Given the description of an element on the screen output the (x, y) to click on. 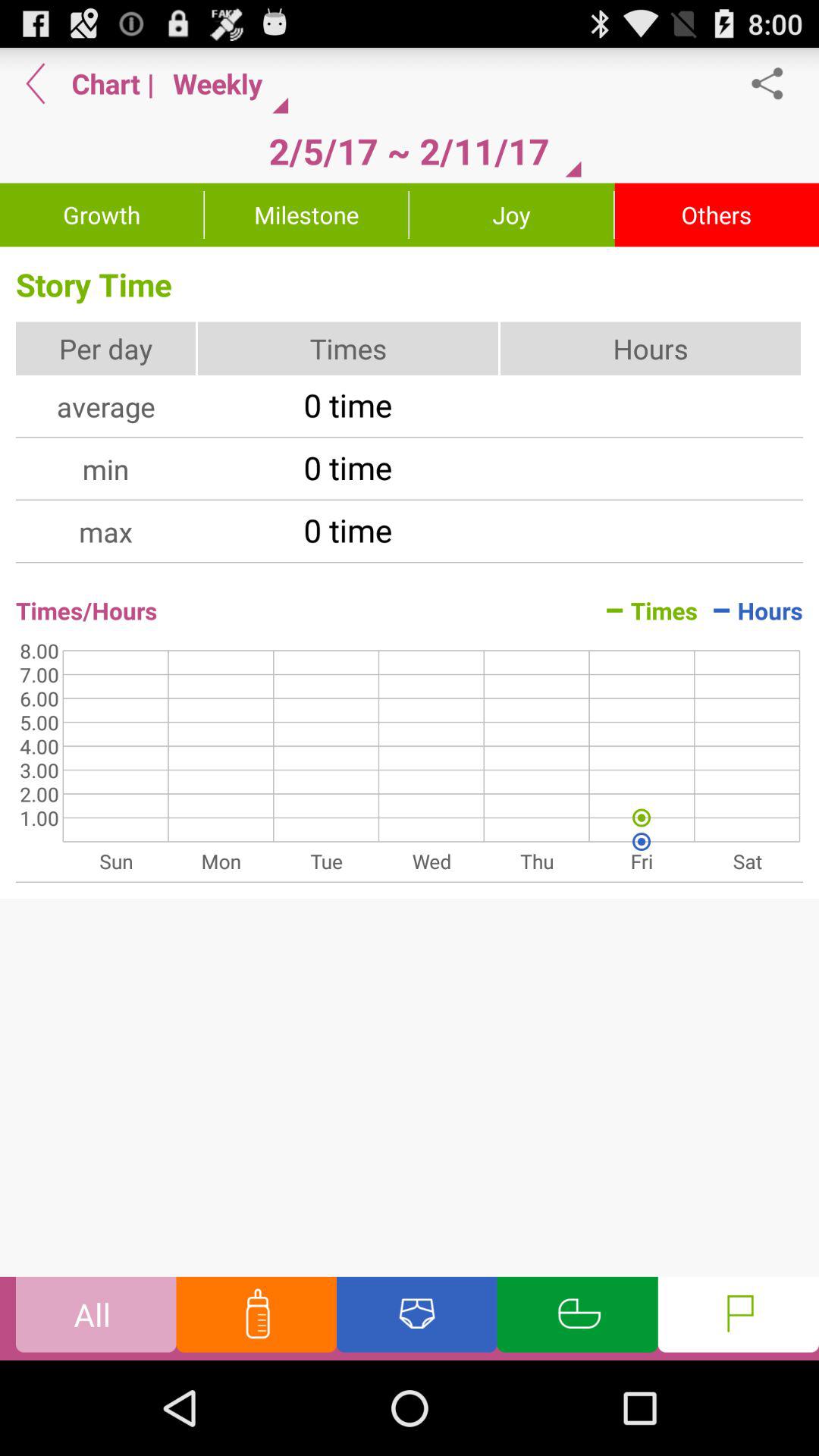
press item to the left of chart app (35, 83)
